Given the description of an element on the screen output the (x, y) to click on. 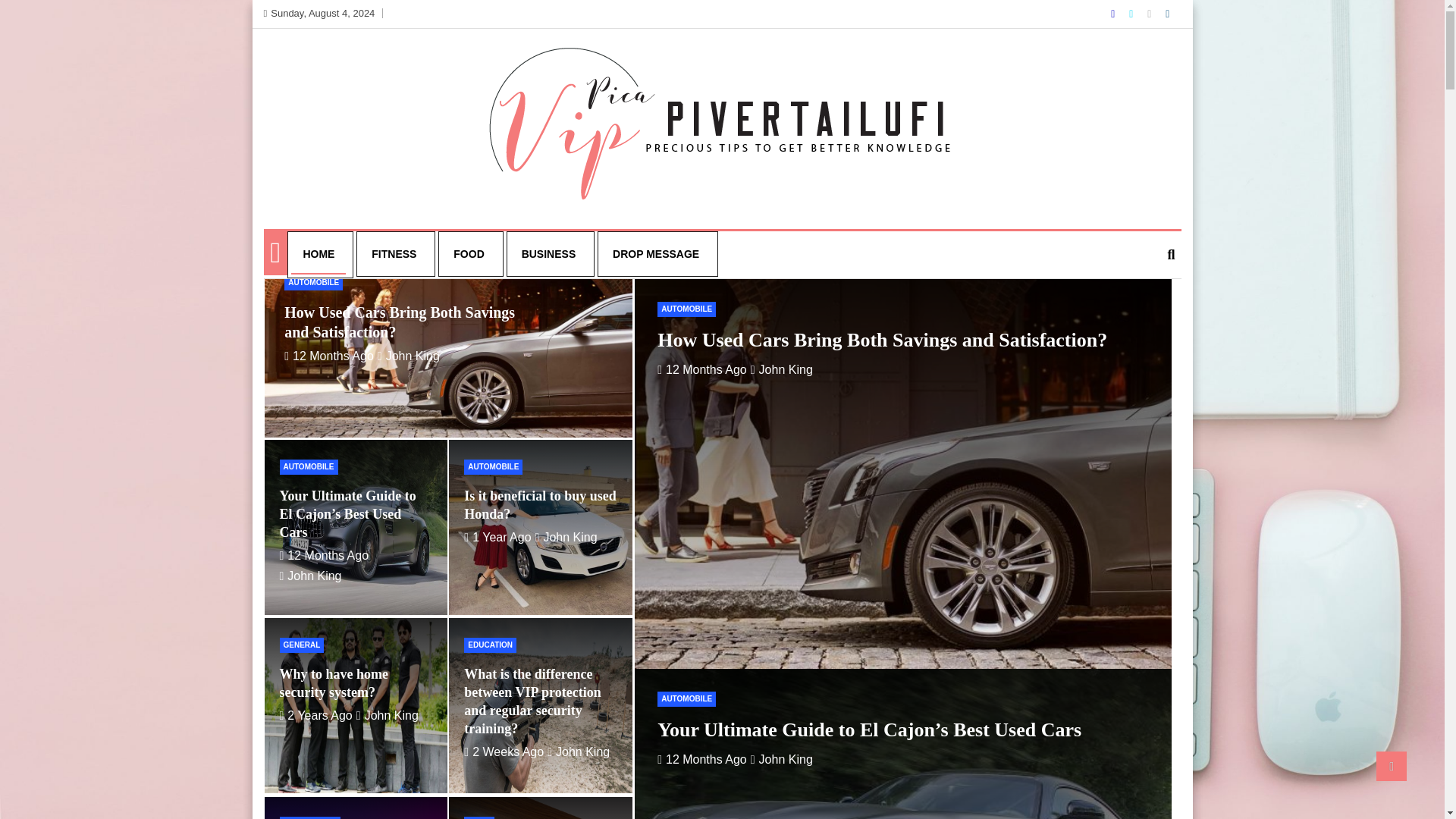
Why to have home security system? (333, 683)
John King (578, 751)
EDUCATION (490, 645)
HOME (318, 254)
FITNESS (393, 253)
12 Months Ago (328, 355)
Is it beneficial to buy used Honda? (497, 536)
2 Years Ago (315, 715)
How Used Cars Bring Both Savings and Satisfaction? (702, 369)
